Given the description of an element on the screen output the (x, y) to click on. 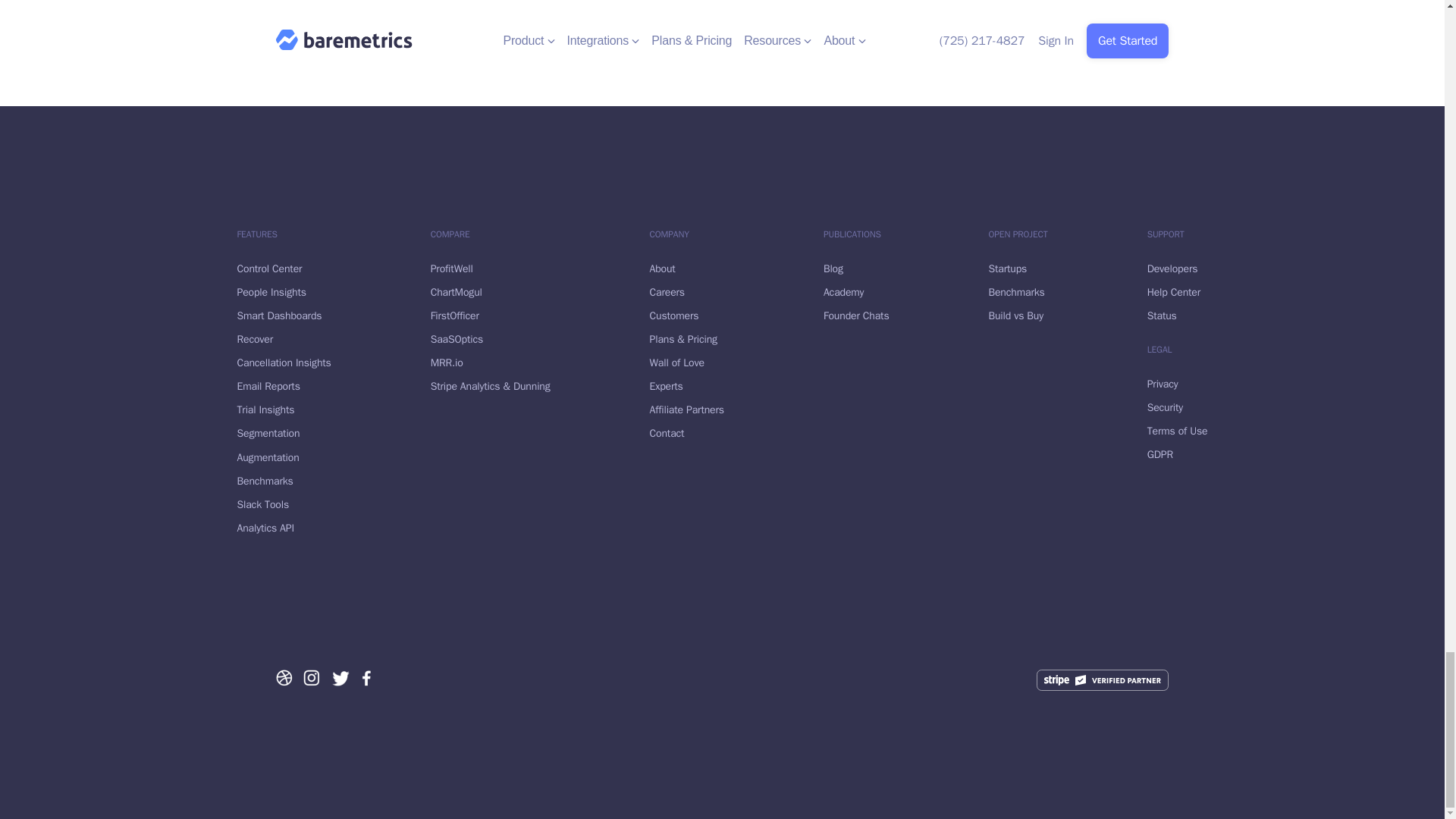
Stripe Verified Partner check mark (1102, 680)
